Given the description of an element on the screen output the (x, y) to click on. 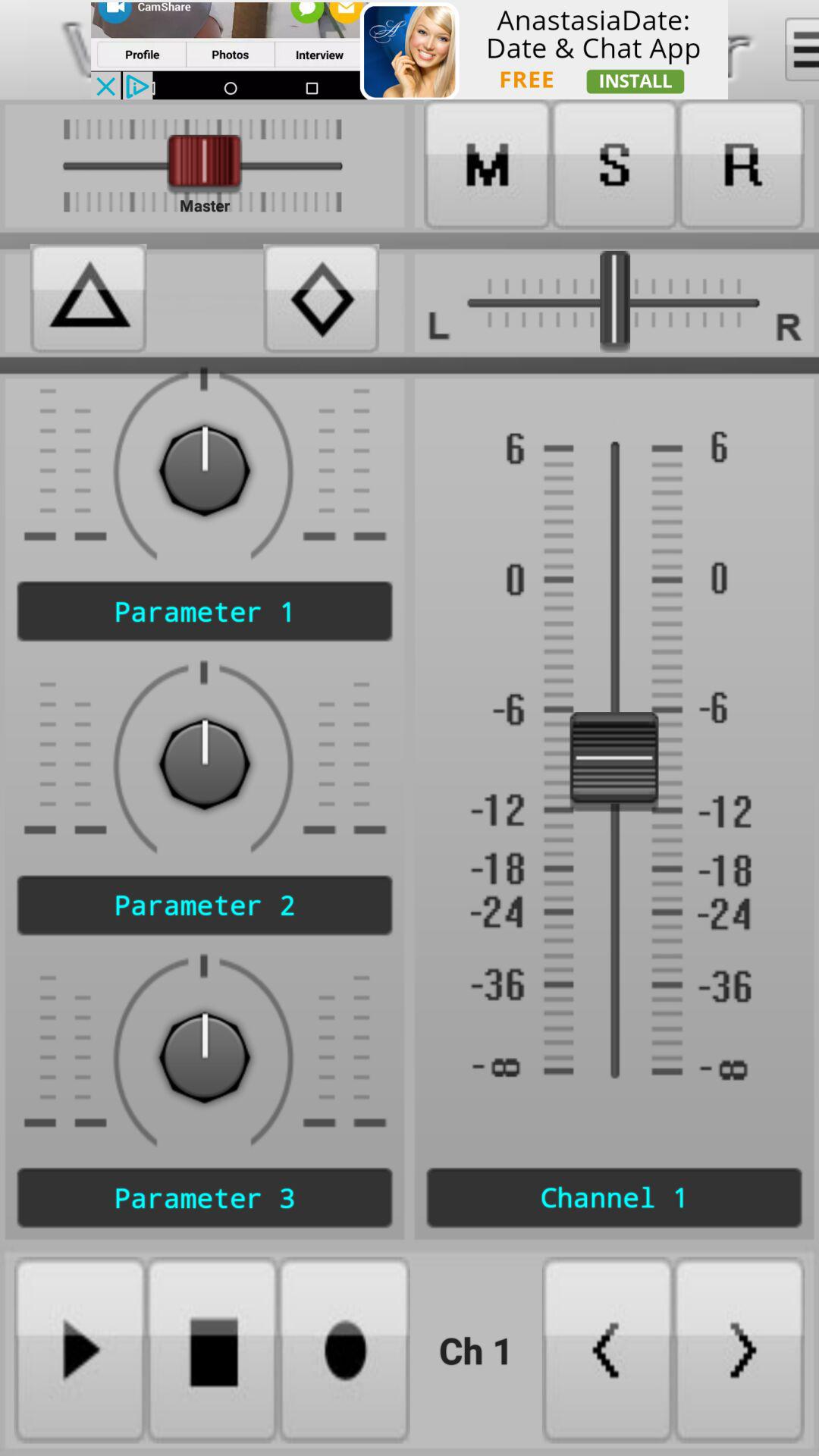
open advertisement (409, 49)
